Given the description of an element on the screen output the (x, y) to click on. 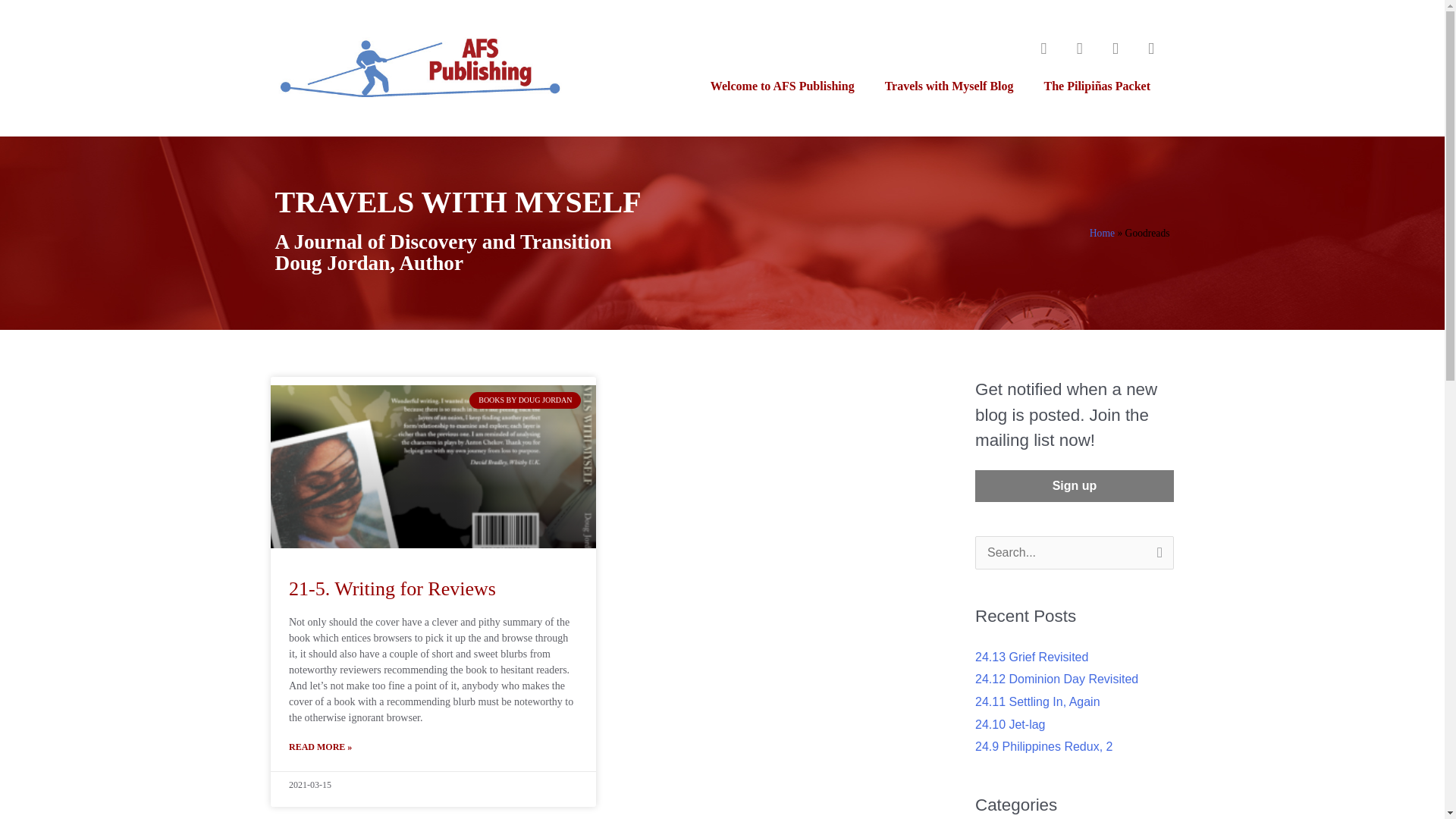
24.11 Settling In, Again (1037, 701)
24.13 Grief Revisited (1031, 656)
24.9 Philippines Redux, 2 (1043, 746)
24.10 Jet-lag (1010, 724)
24.12 Dominion Day Revisited (1056, 678)
Welcome to AFS Publishing (782, 85)
21-5. Writing for Reviews (392, 588)
Sign up (1074, 486)
Travels with Myself Blog (949, 85)
Home (1102, 233)
